Given the description of an element on the screen output the (x, y) to click on. 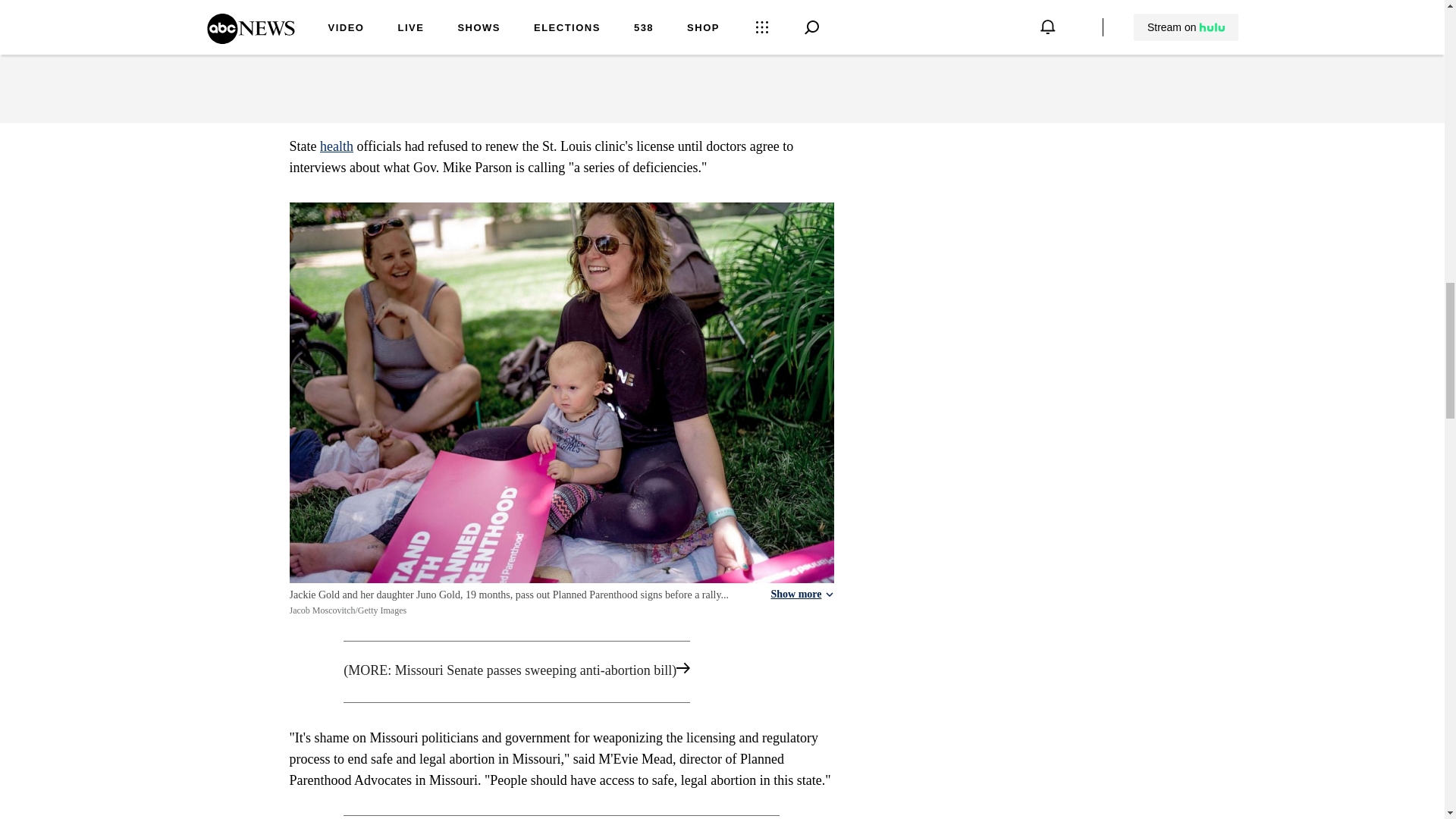
Planned Parenthood (518, 12)
health (336, 145)
Missouri (402, 12)
Show more (801, 594)
